Given the description of an element on the screen output the (x, y) to click on. 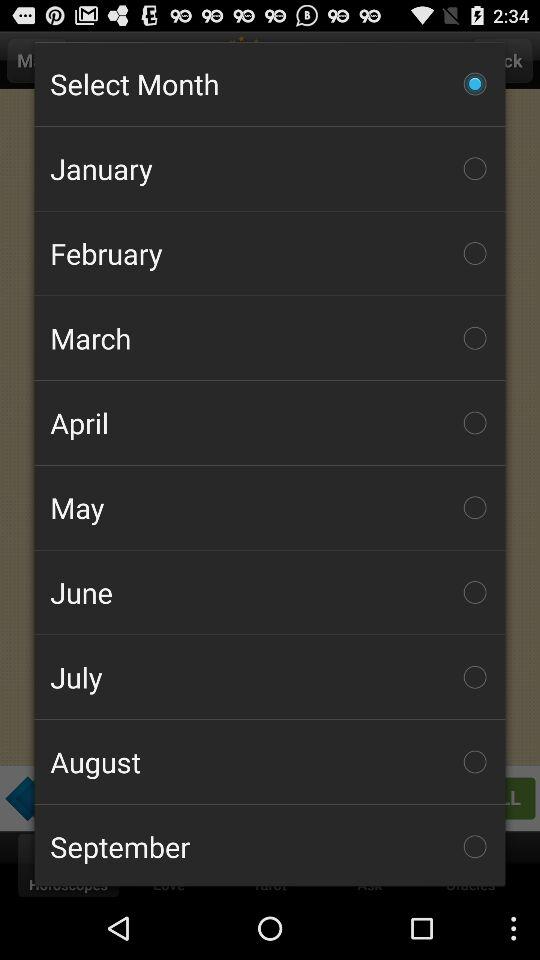
select item below the may icon (269, 592)
